Given the description of an element on the screen output the (x, y) to click on. 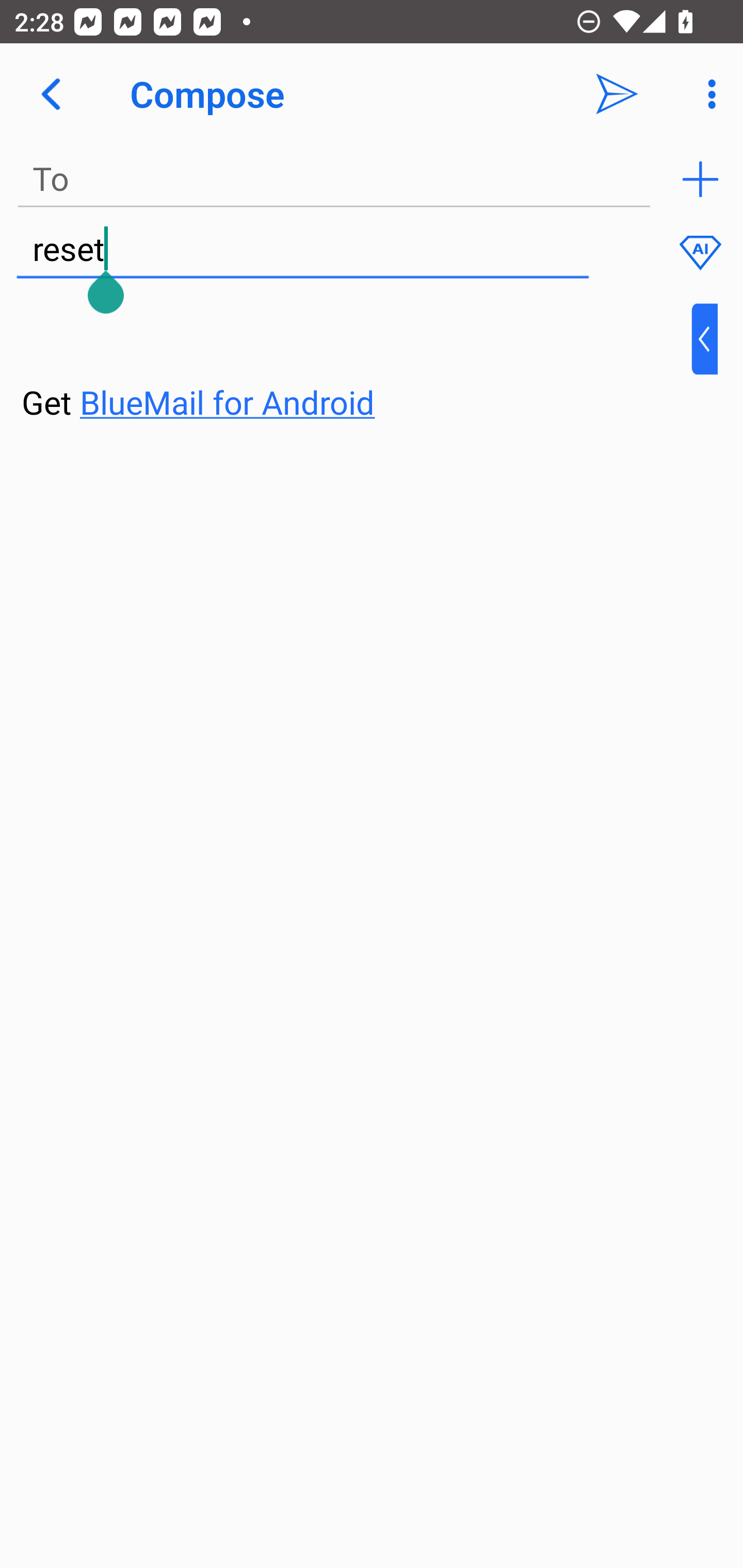
Navigate up (50, 93)
Send (616, 93)
More Options (706, 93)
To (334, 179)
Add recipient (To) (699, 179)
reset (302, 249)


⁣Get BlueMail for Android ​ (355, 363)
